Given the description of an element on the screen output the (x, y) to click on. 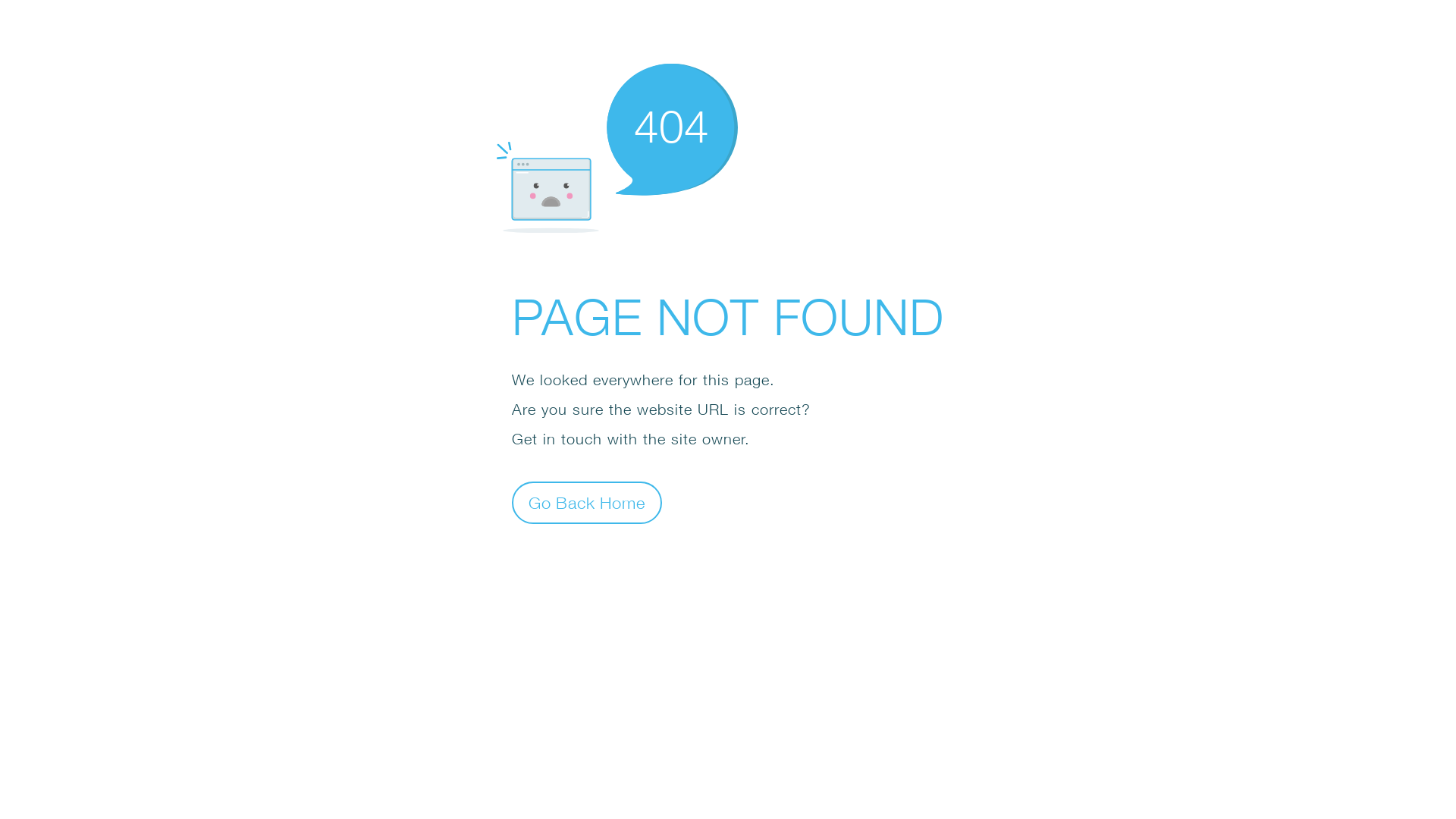
Go Back Home Element type: text (586, 502)
